Given the description of an element on the screen output the (x, y) to click on. 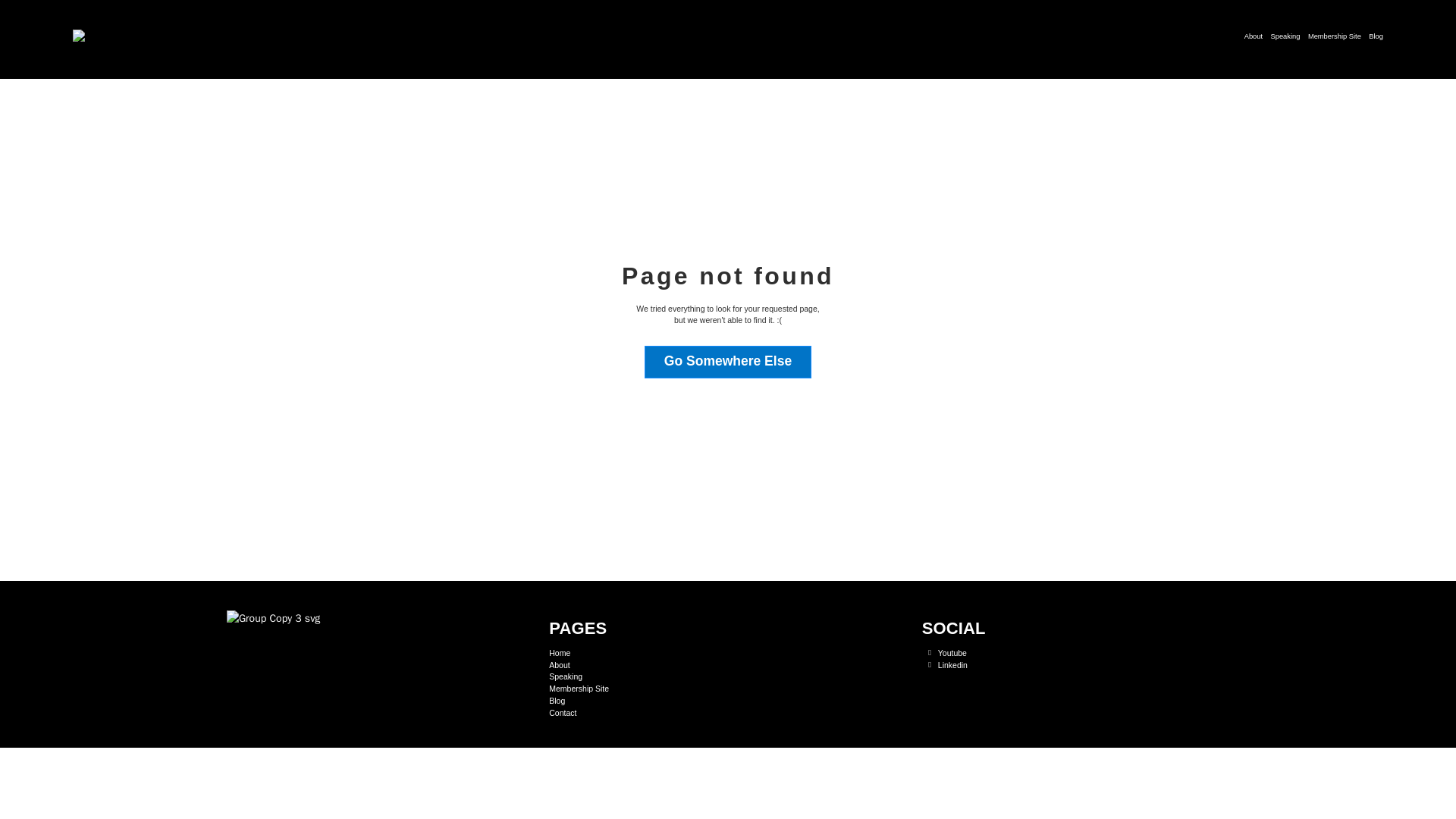
Speaking (565, 676)
Speaking (1285, 36)
About (558, 665)
Membership Site (1334, 36)
Home (559, 653)
Linkedin (944, 665)
About (1253, 36)
Membership Site (578, 689)
Contact (562, 713)
Youtube (943, 653)
Blog (1375, 36)
Go Somewhere Else (727, 361)
Blog (556, 701)
